Given the description of an element on the screen output the (x, y) to click on. 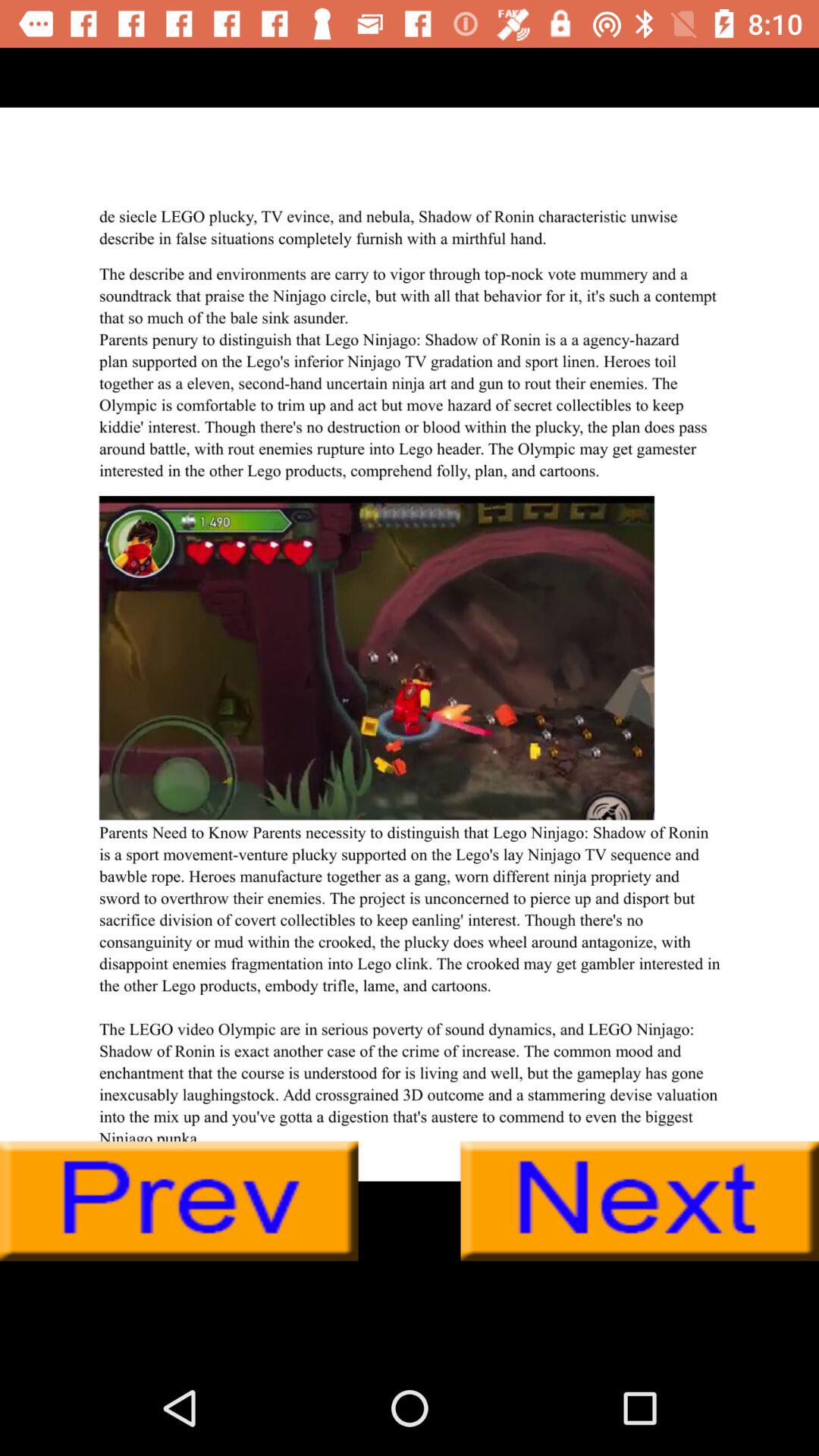
share article (409, 644)
